Given the description of an element on the screen output the (x, y) to click on. 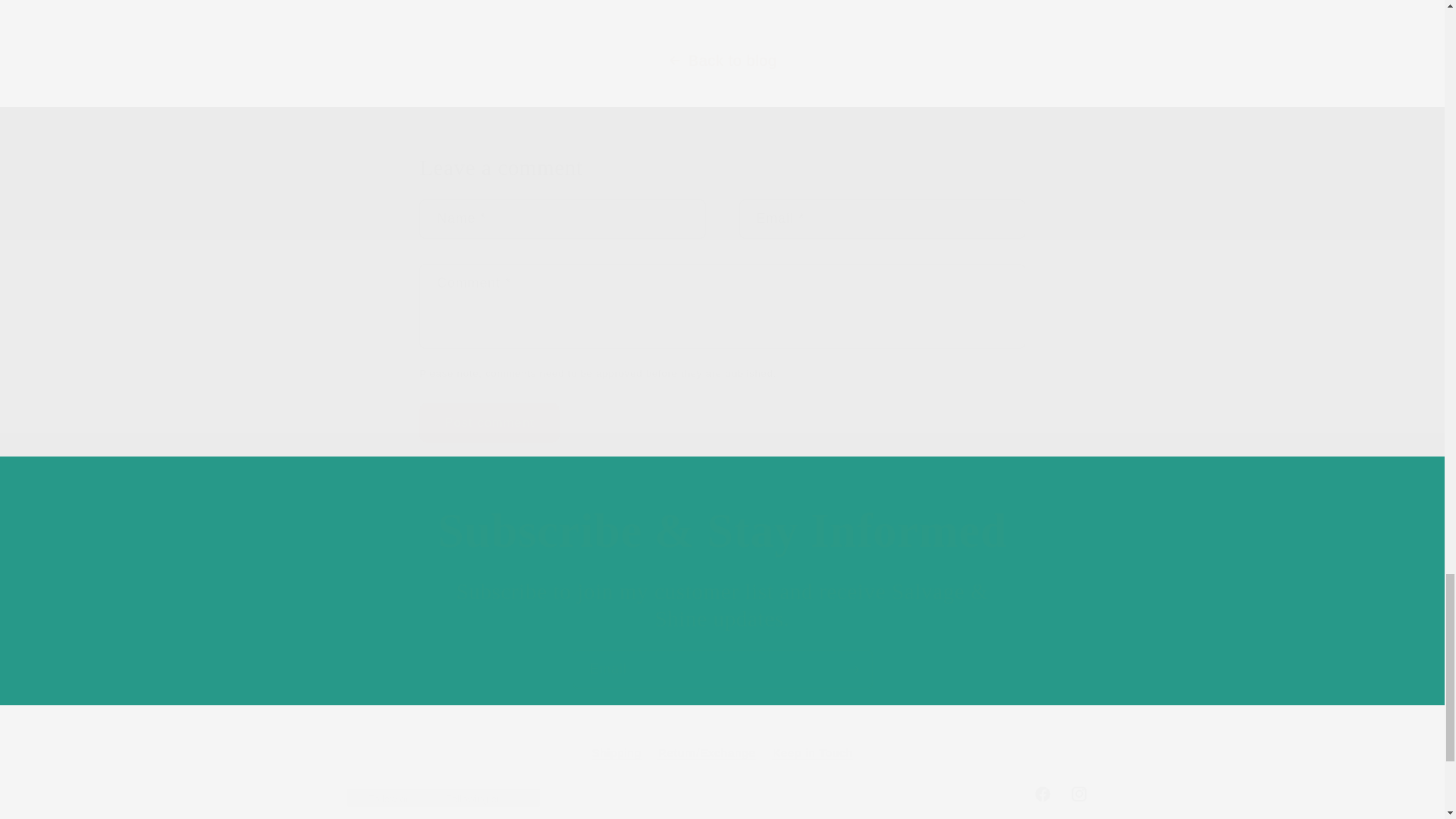
Email (722, 669)
Post comment (489, 422)
Share (722, 793)
